Given the description of an element on the screen output the (x, y) to click on. 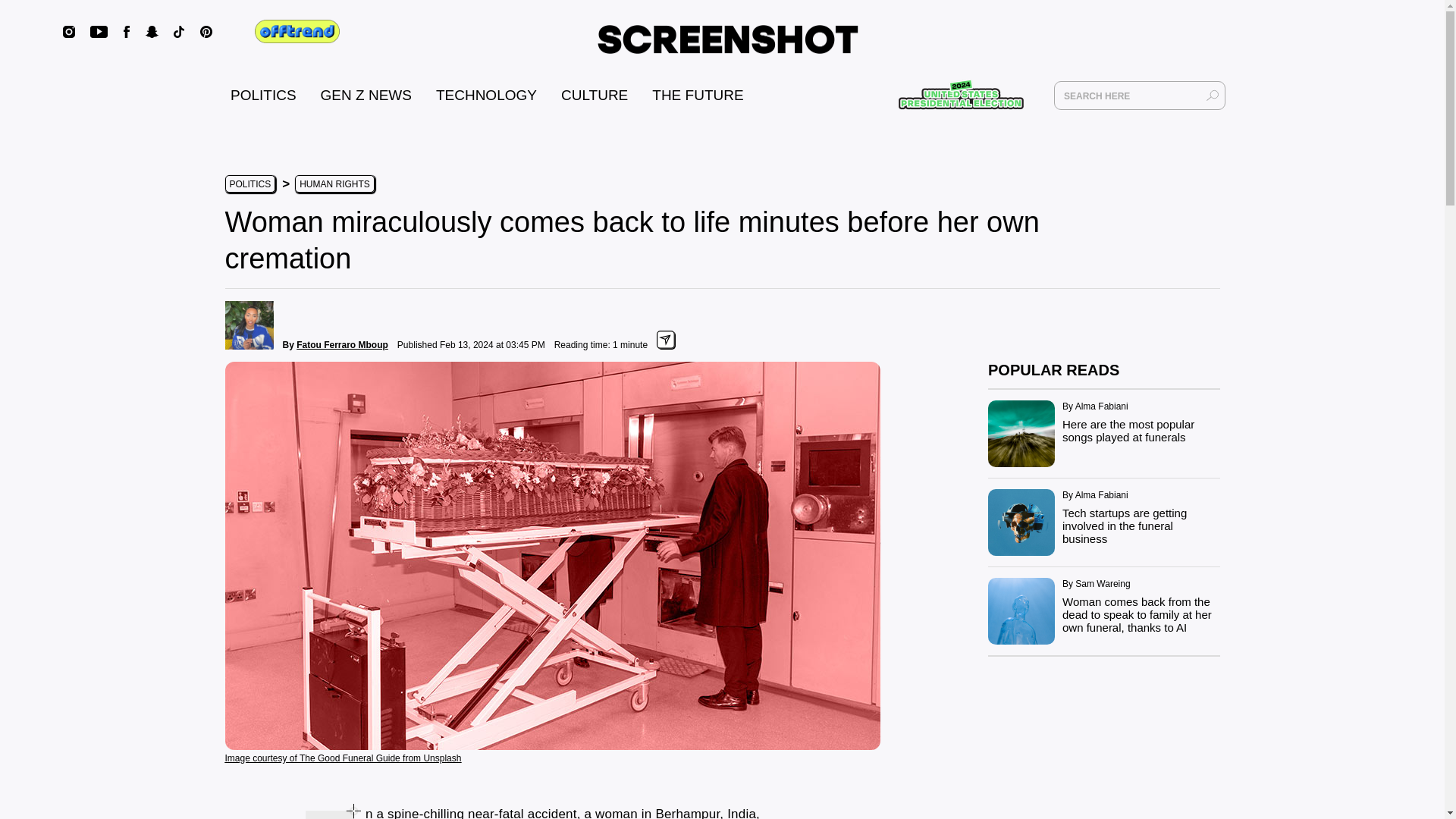
Image courtesy of The Good Funeral Guide from Unsplash (342, 757)
GEN Z NEWS (366, 94)
TECHNOLOGY (486, 94)
THE FUTURE (697, 94)
CULTURE (593, 94)
HUMAN RIGHTS (334, 184)
POLITICS (263, 94)
POLITICS (249, 184)
Fatou Ferraro Mboup (342, 344)
